Given the description of an element on the screen output the (x, y) to click on. 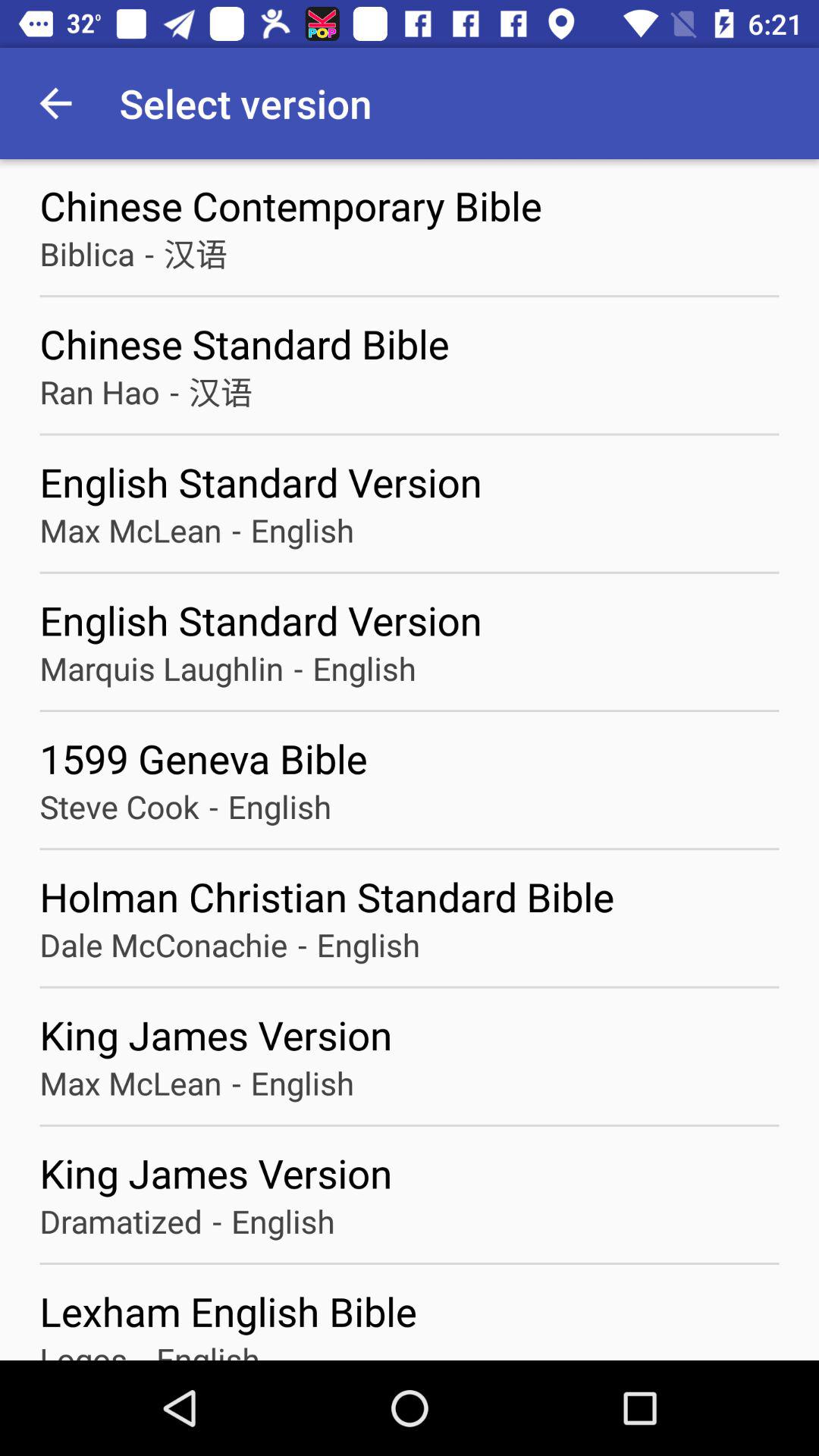
turn on holman christian standard icon (409, 896)
